Given the description of an element on the screen output the (x, y) to click on. 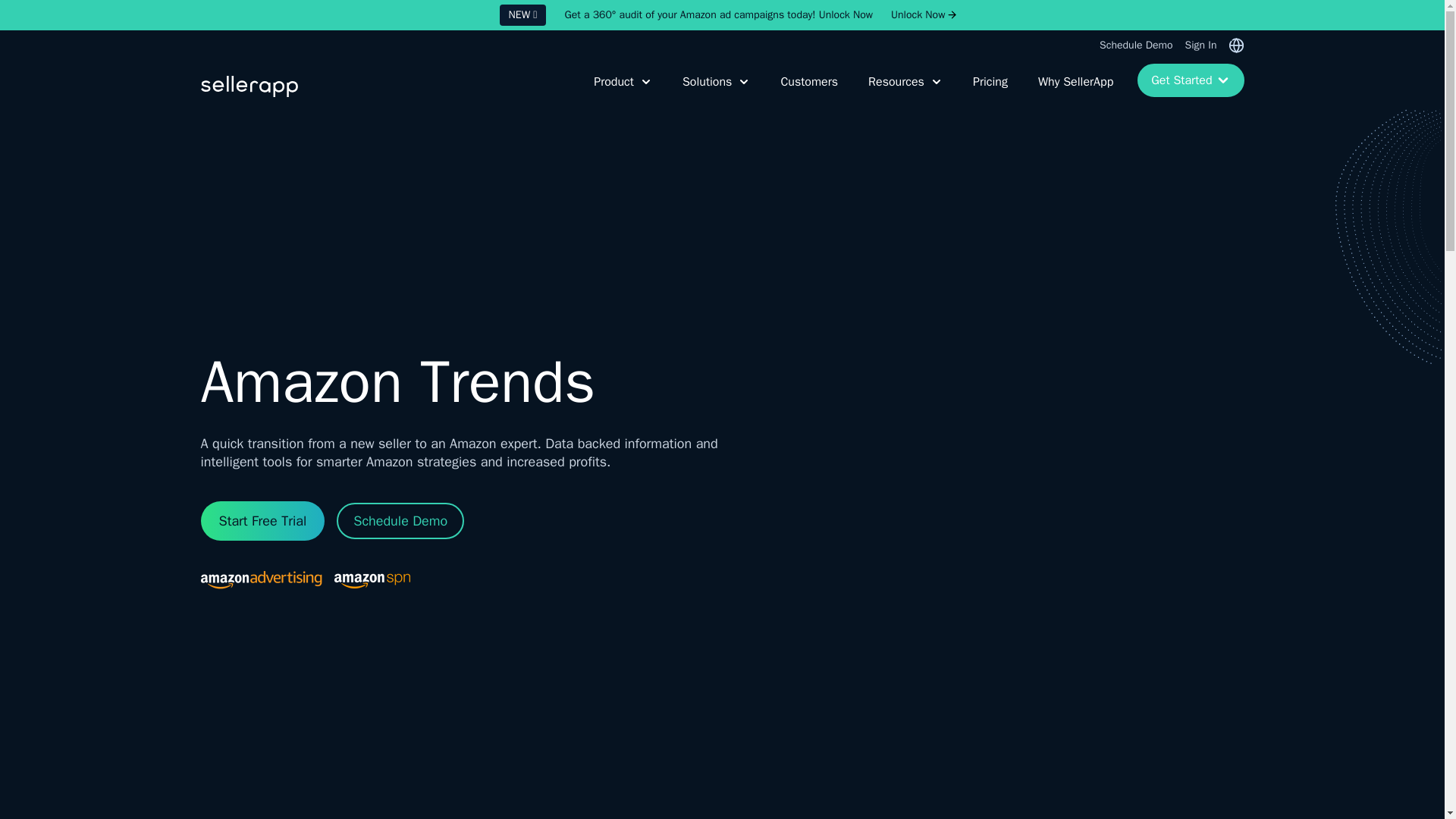
Schedule Demo (400, 520)
Sign In (1201, 45)
Pricing (986, 90)
Start Free Trial (262, 520)
Resources (901, 90)
Schedule Demo (1135, 45)
Customers (806, 90)
Unlock Now (917, 14)
Get Started (1190, 80)
Why SellerApp (1072, 90)
Solutions (713, 90)
Product (620, 90)
